Given the description of an element on the screen output the (x, y) to click on. 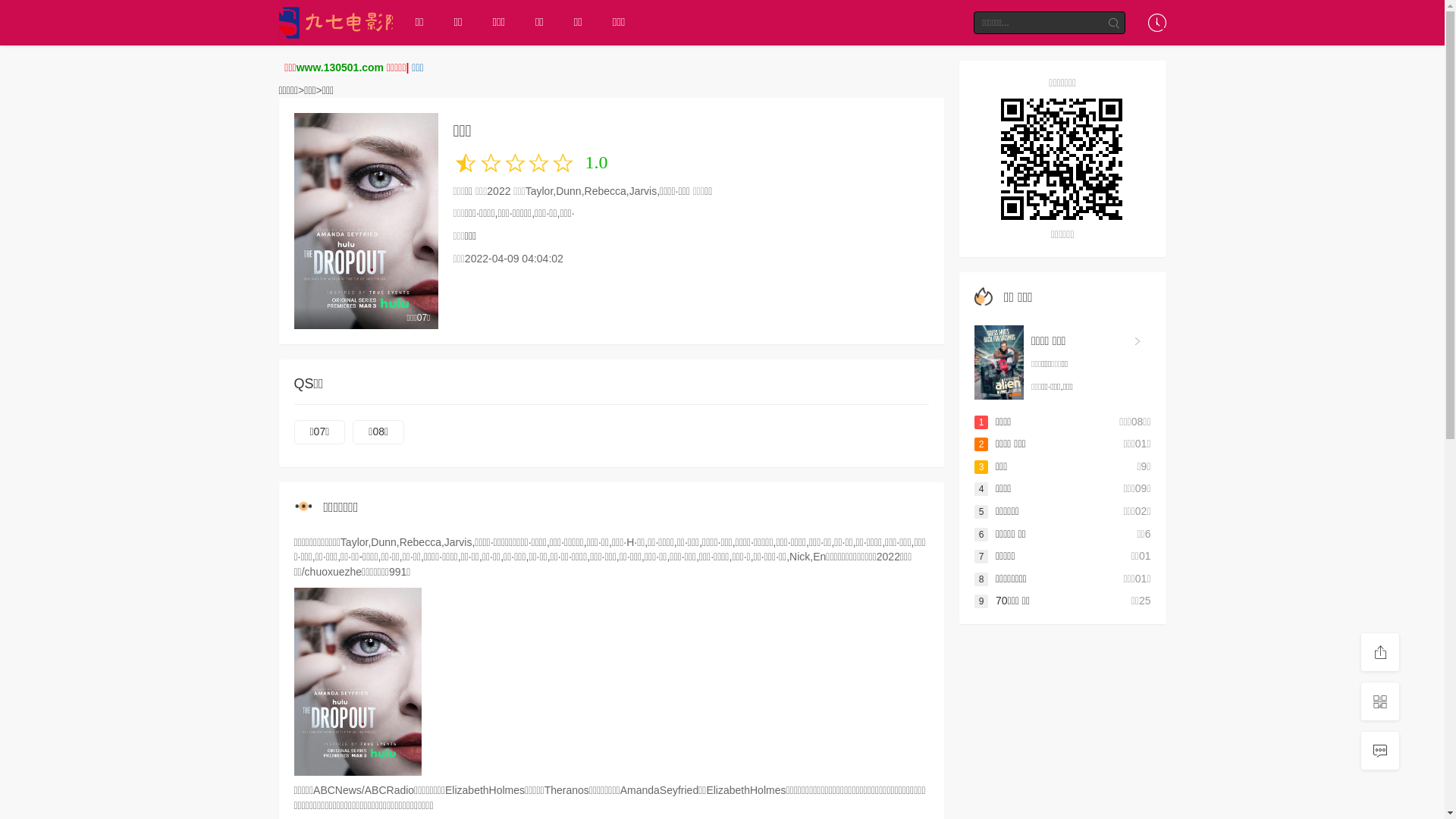
http://www.130501.com/w/h77442.html Element type: hover (1062, 158)
www.130501.com Element type: text (339, 67)
